Given the description of an element on the screen output the (x, y) to click on. 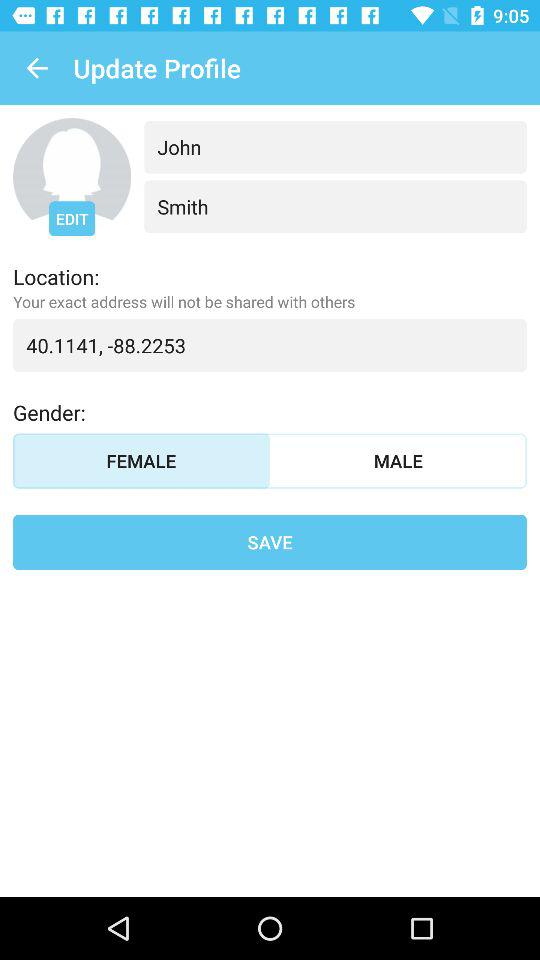
edit profile image (72, 177)
